Given the description of an element on the screen output the (x, y) to click on. 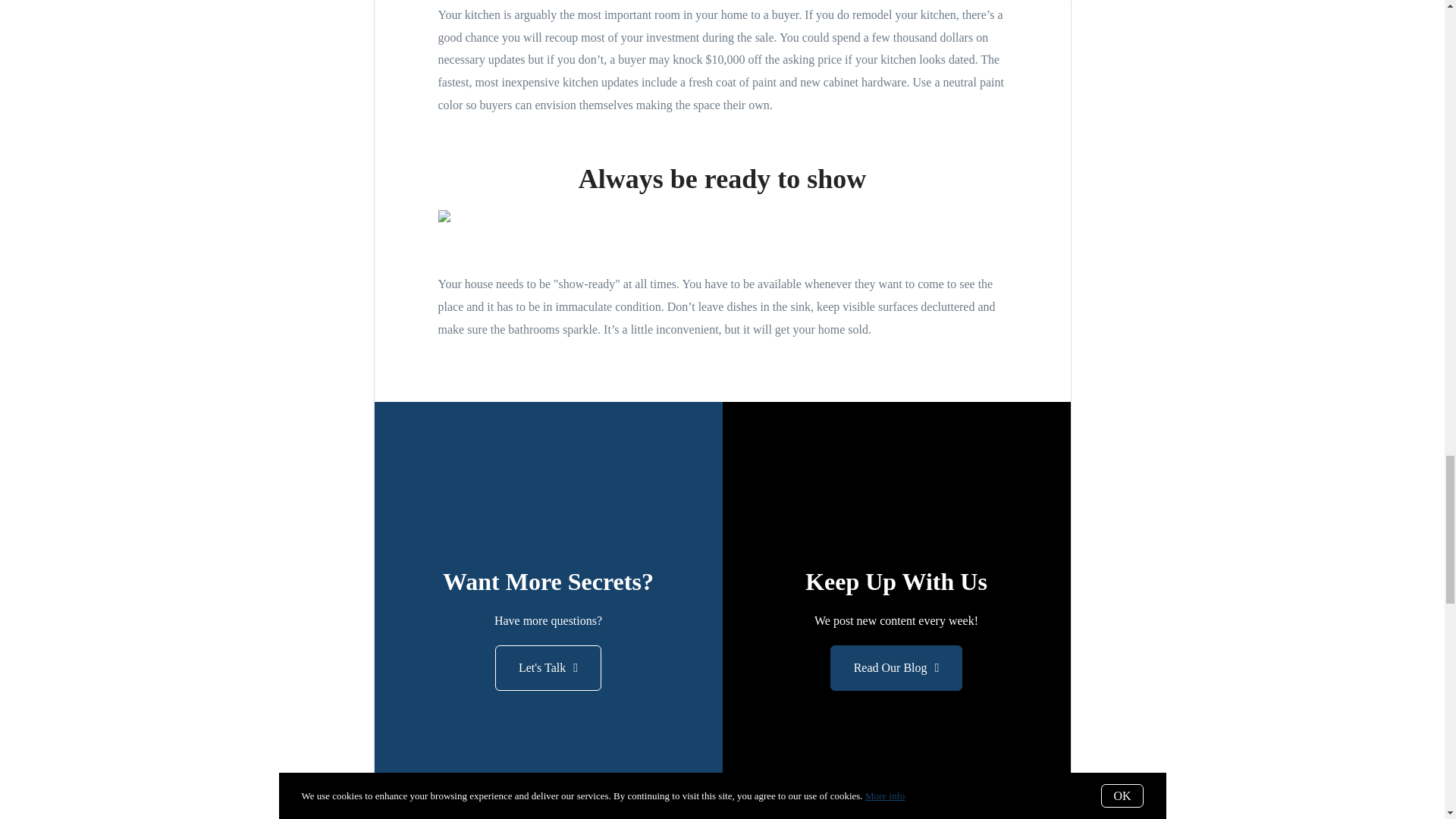
Let's Talk (548, 668)
Read Our Blog (895, 668)
